Given the description of an element on the screen output the (x, y) to click on. 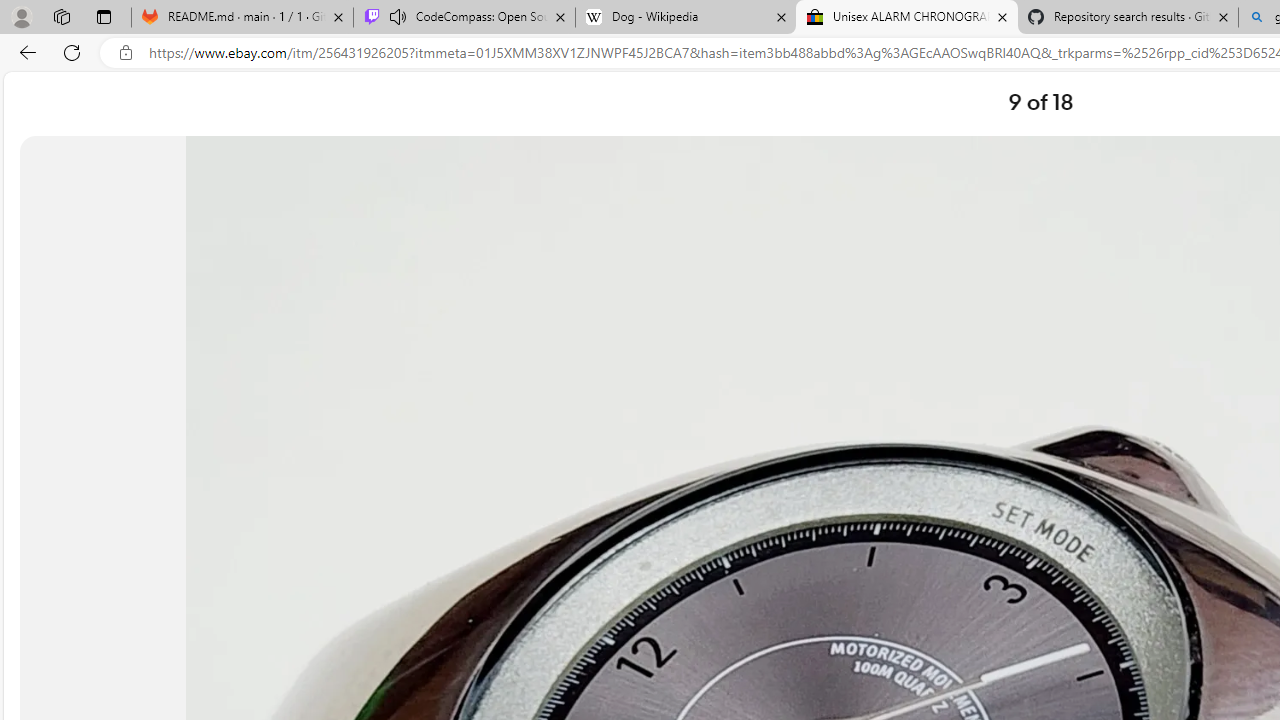
Dog - Wikipedia (686, 17)
Mute tab (397, 16)
